Given the description of an element on the screen output the (x, y) to click on. 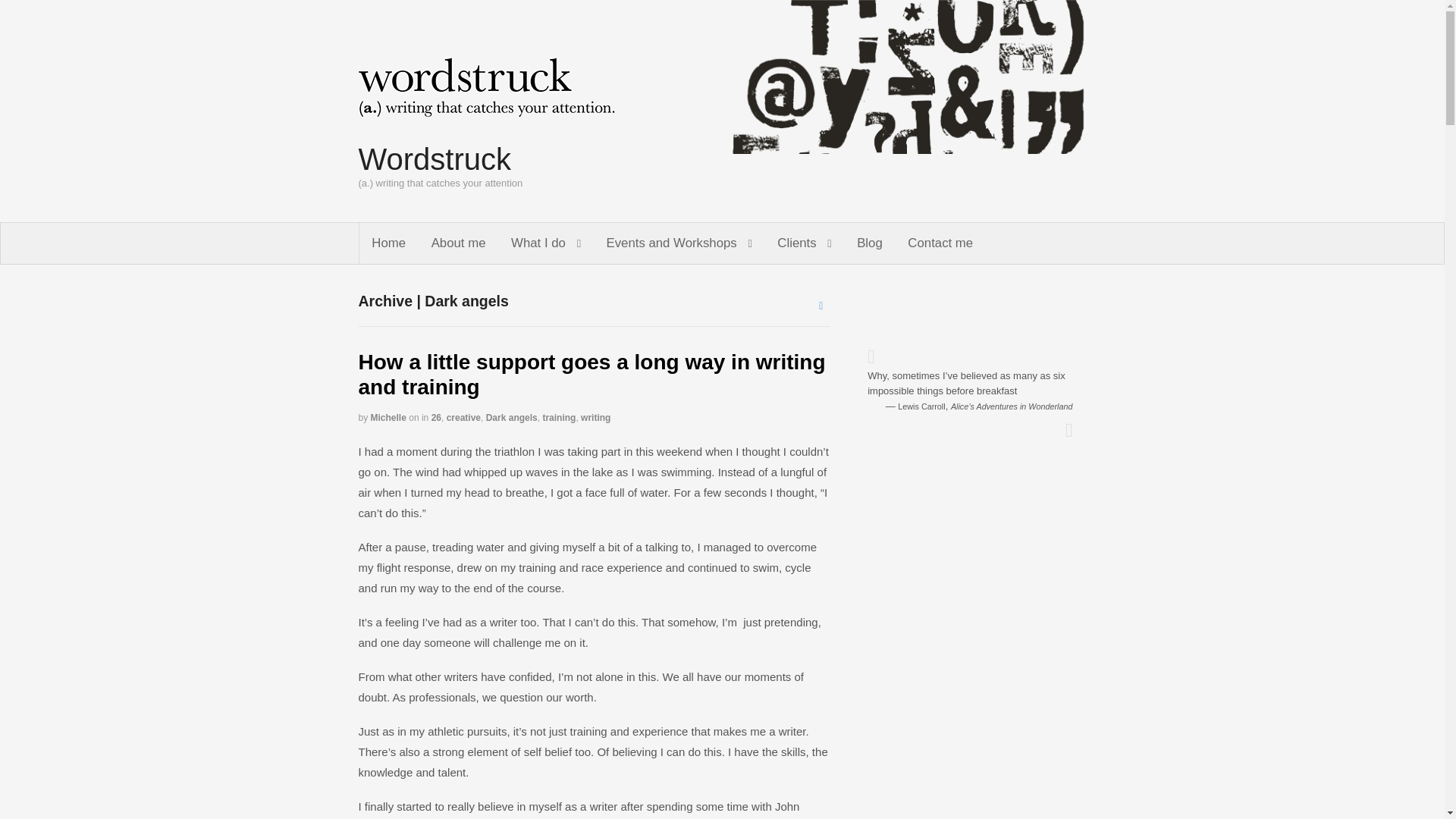
What I do (544, 242)
Wordstruck (434, 159)
About me (458, 242)
View all items in writing (595, 417)
creative (463, 417)
View all items in creative (463, 417)
Home (389, 242)
Contact me (940, 242)
Clients (804, 242)
writing (595, 417)
View all items in Dark angels (511, 417)
Blog (869, 242)
training (558, 417)
View all items in training (558, 417)
Events and Workshops (679, 242)
